Given the description of an element on the screen output the (x, y) to click on. 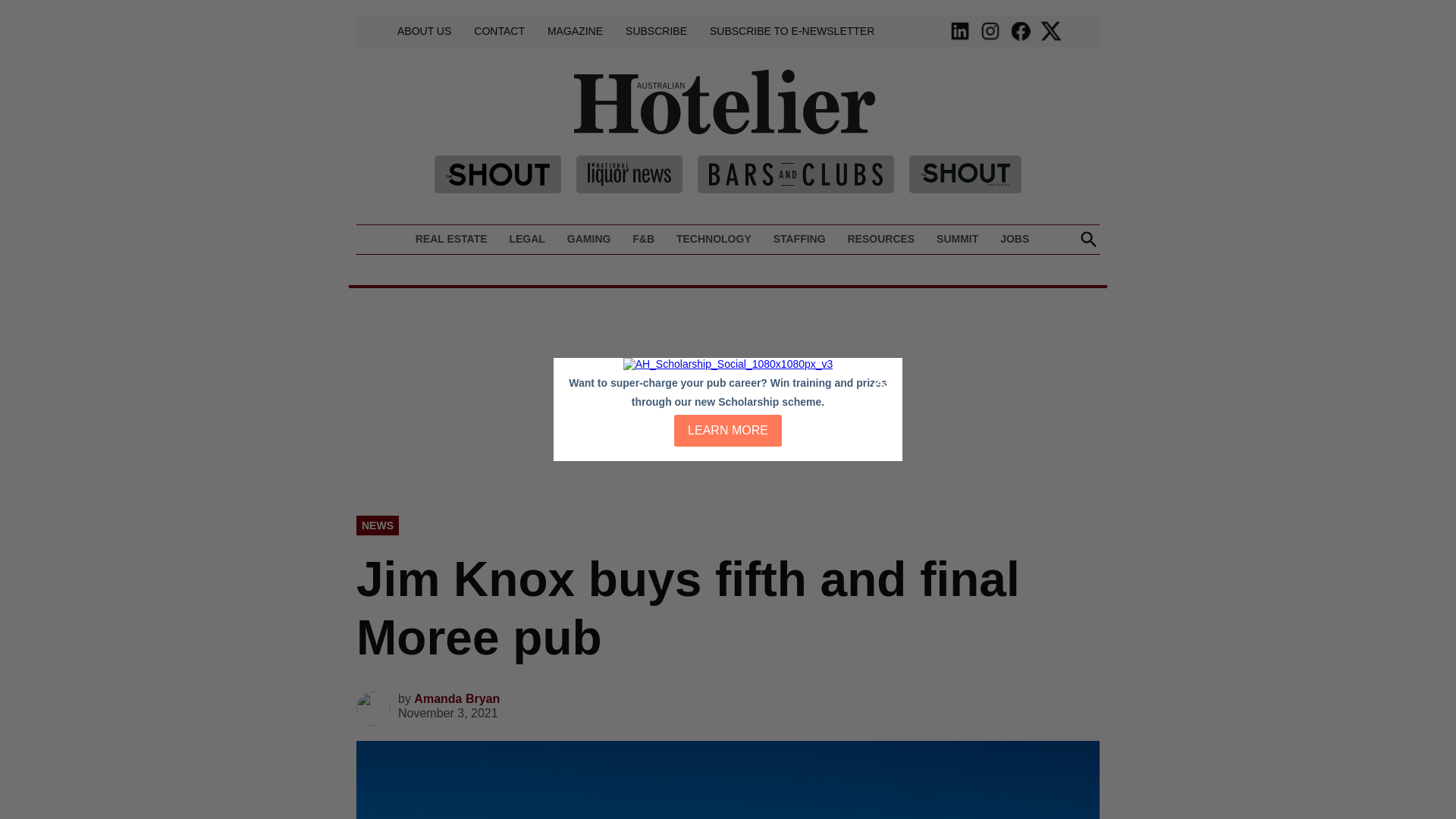
MAGAZINE (575, 30)
SUBSCRIBE TO E-NEWSLETTER (791, 30)
Australian Hotelier (926, 124)
SUBSCRIBE (655, 30)
Instagram (989, 31)
Facebook (1020, 31)
CONTACT (499, 30)
Linkedin (960, 31)
ABOUT US (423, 30)
Twitter (1050, 31)
